Given the description of an element on the screen output the (x, y) to click on. 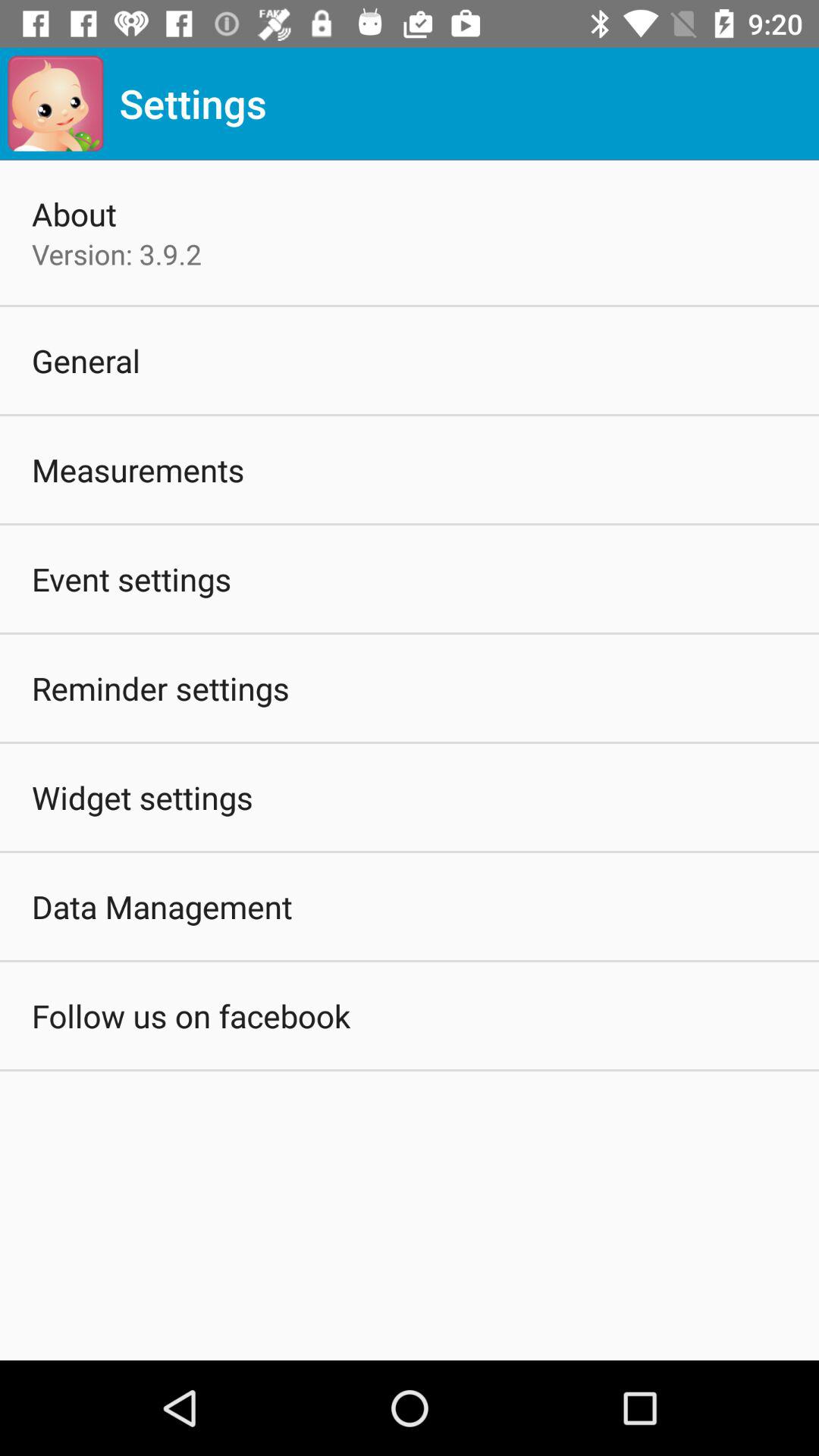
jump to the general app (85, 360)
